Given the description of an element on the screen output the (x, y) to click on. 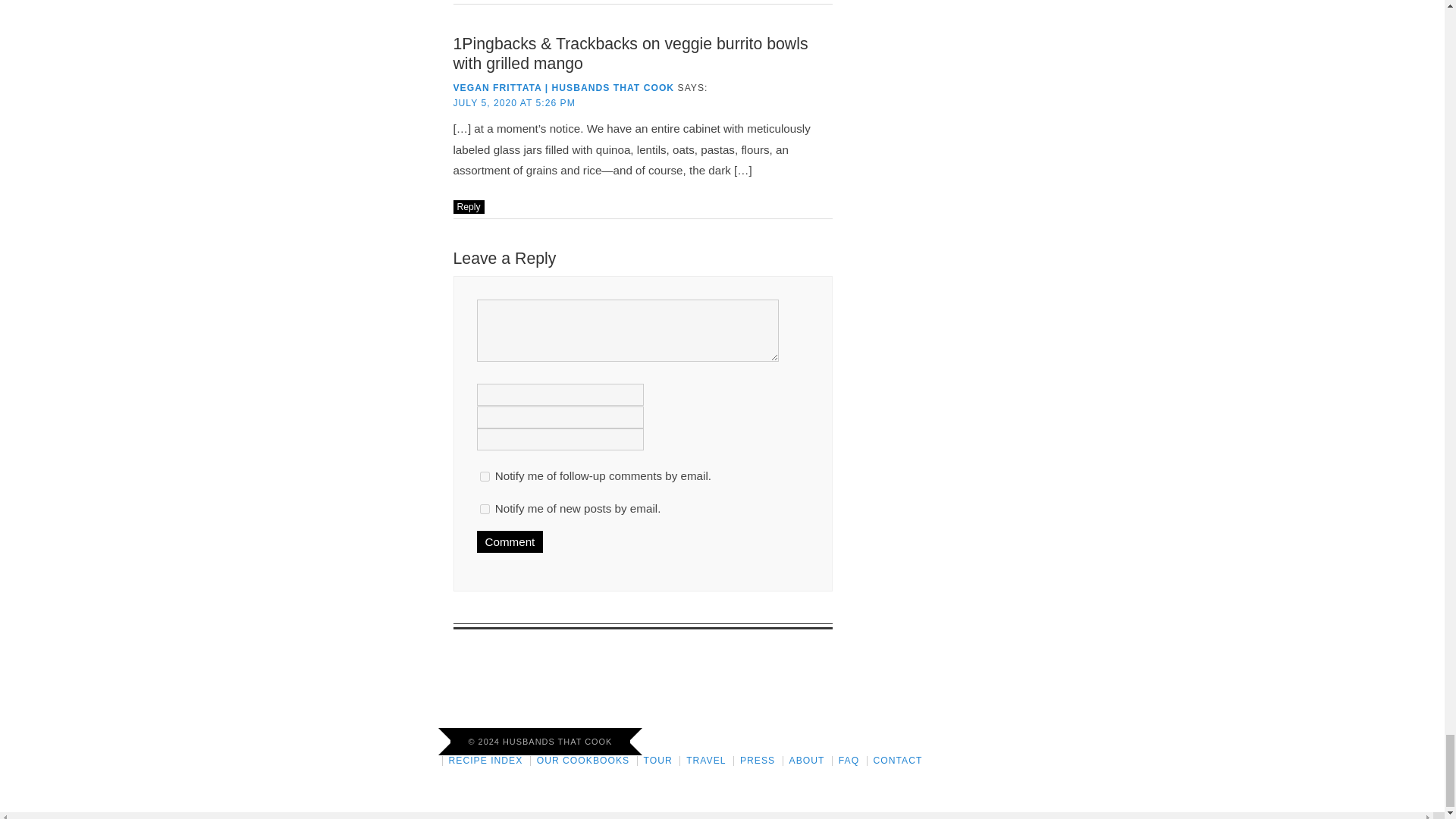
subscribe (484, 509)
Comment (509, 541)
subscribe (484, 476)
